Given the description of an element on the screen output the (x, y) to click on. 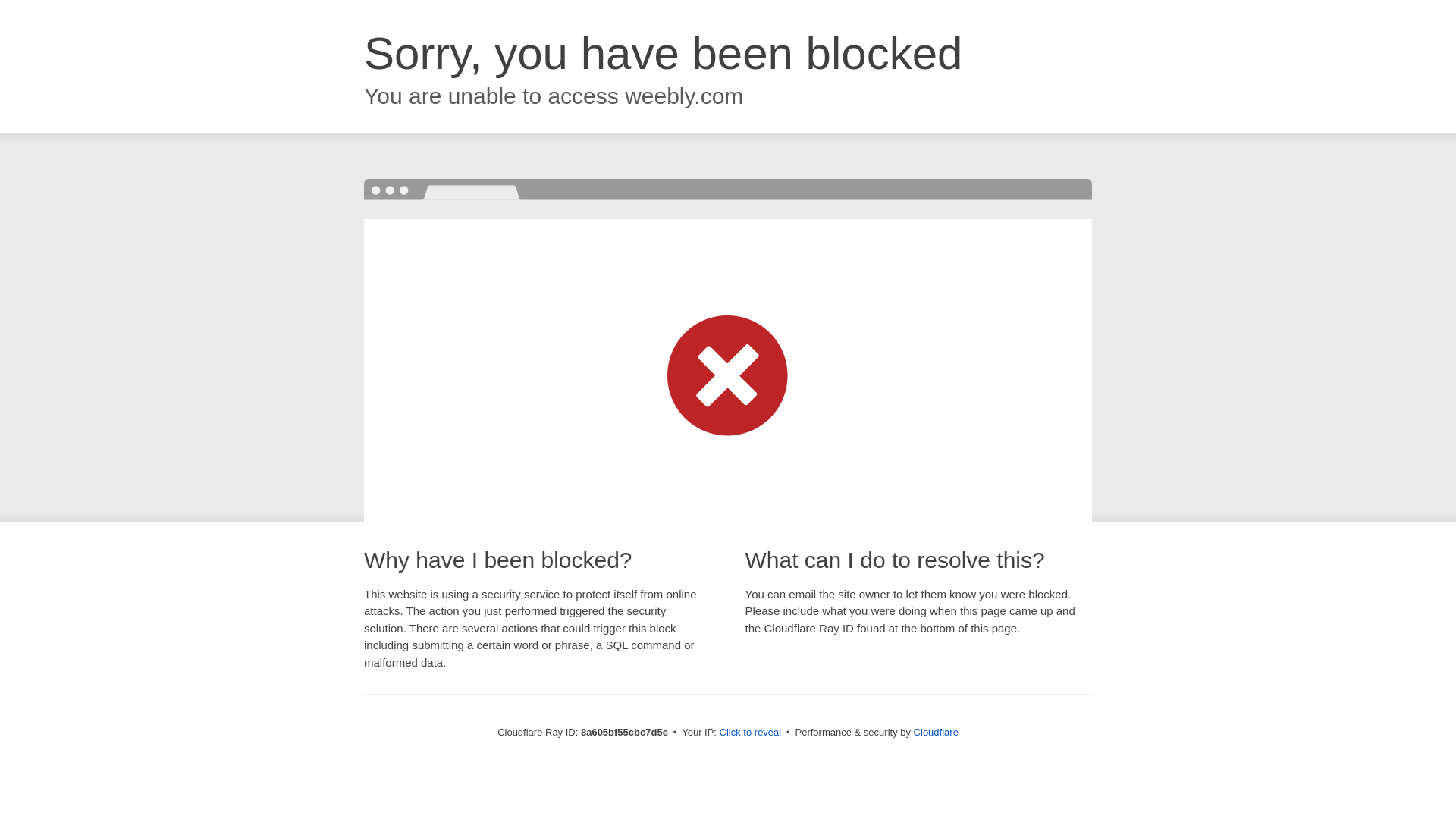
Click to reveal (750, 732)
Cloudflare (936, 731)
